Given the description of an element on the screen output the (x, y) to click on. 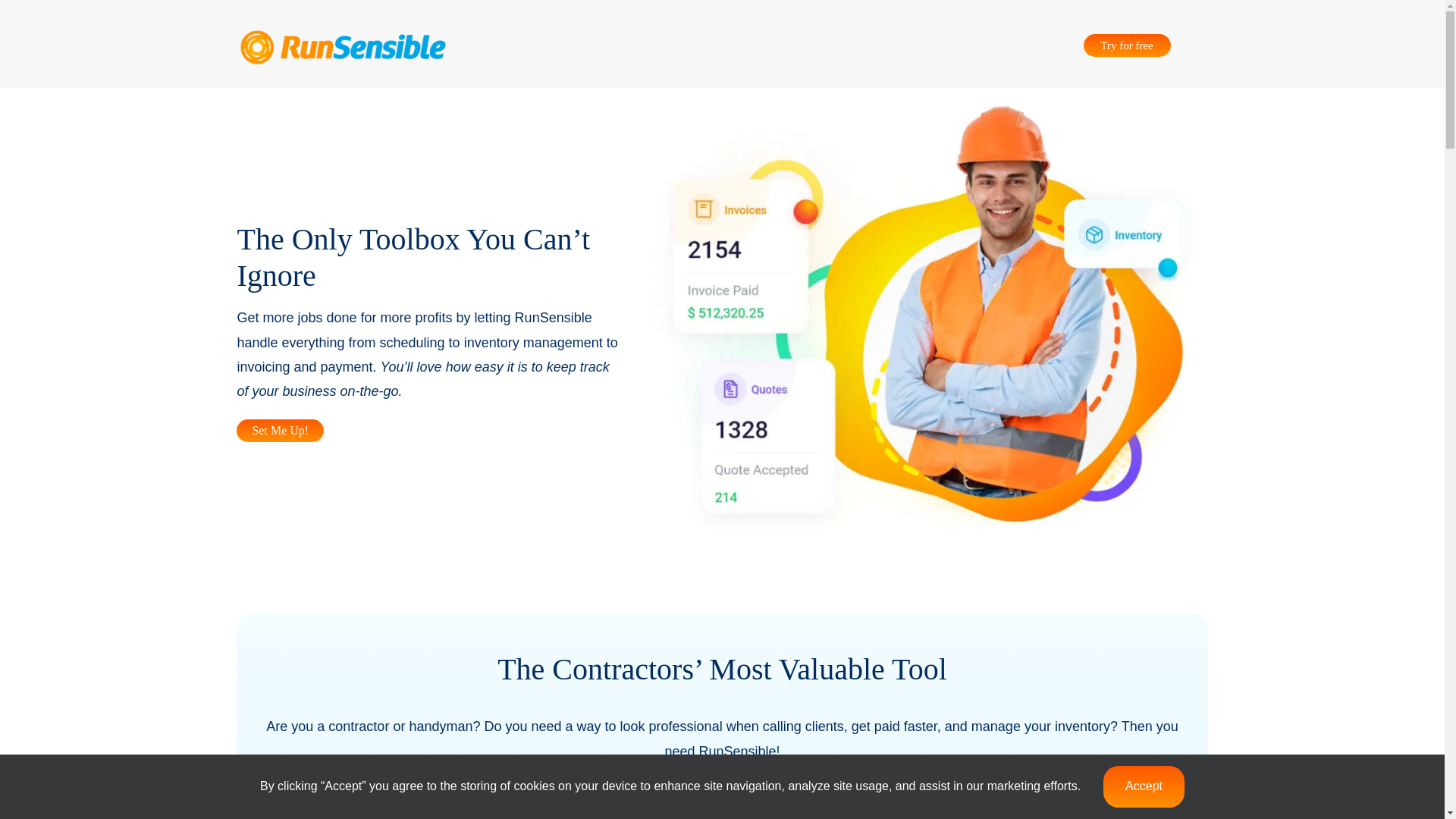
Set Me Up! (279, 430)
Try for free (1126, 45)
Let Me See for Myself (792, 789)
